Given the description of an element on the screen output the (x, y) to click on. 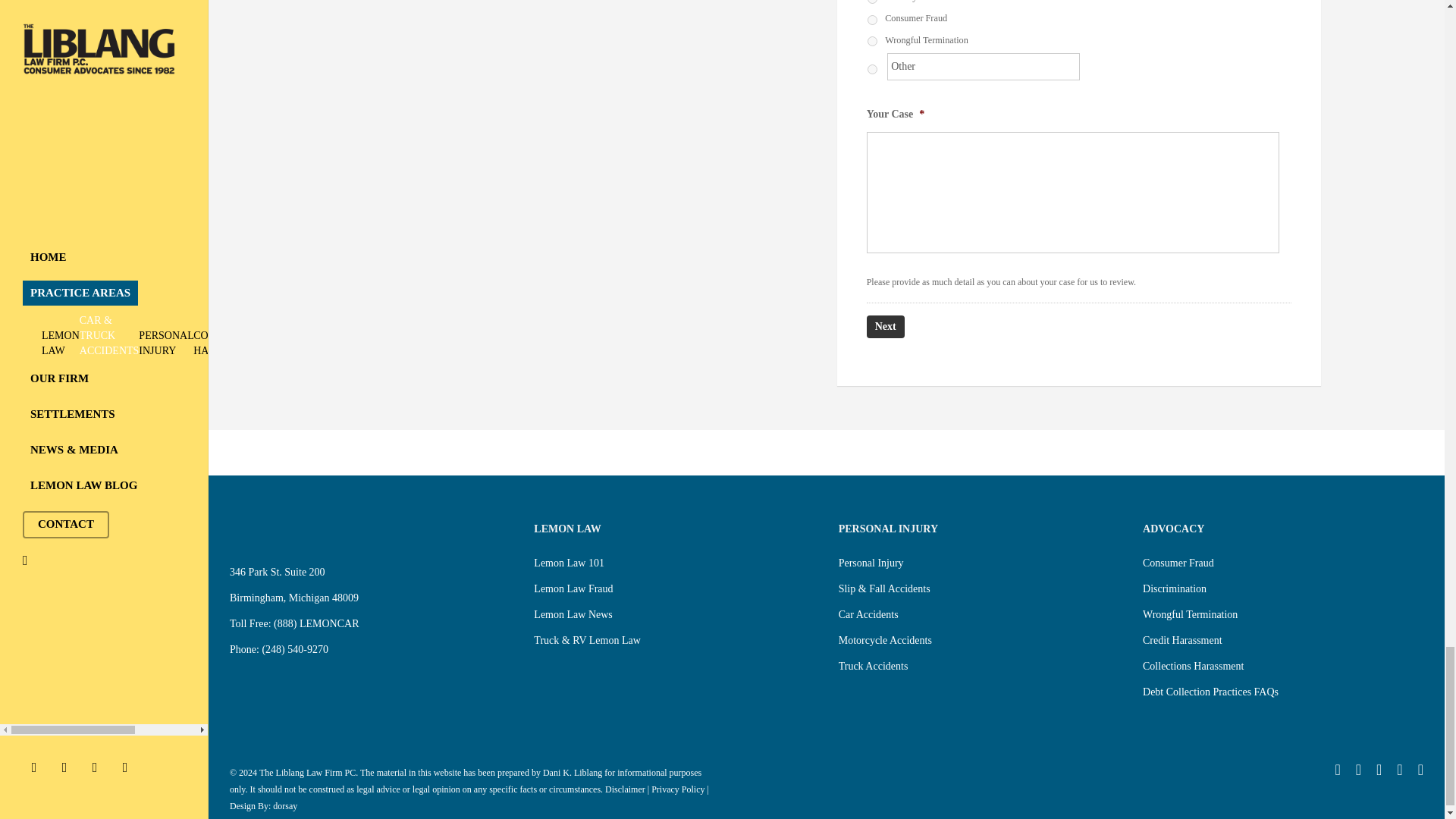
Next (885, 326)
Other (983, 66)
Consumer Fraud (872, 20)
Motorcycle Lemon Law (872, 2)
Wrongful Termination (872, 40)
